Given the description of an element on the screen output the (x, y) to click on. 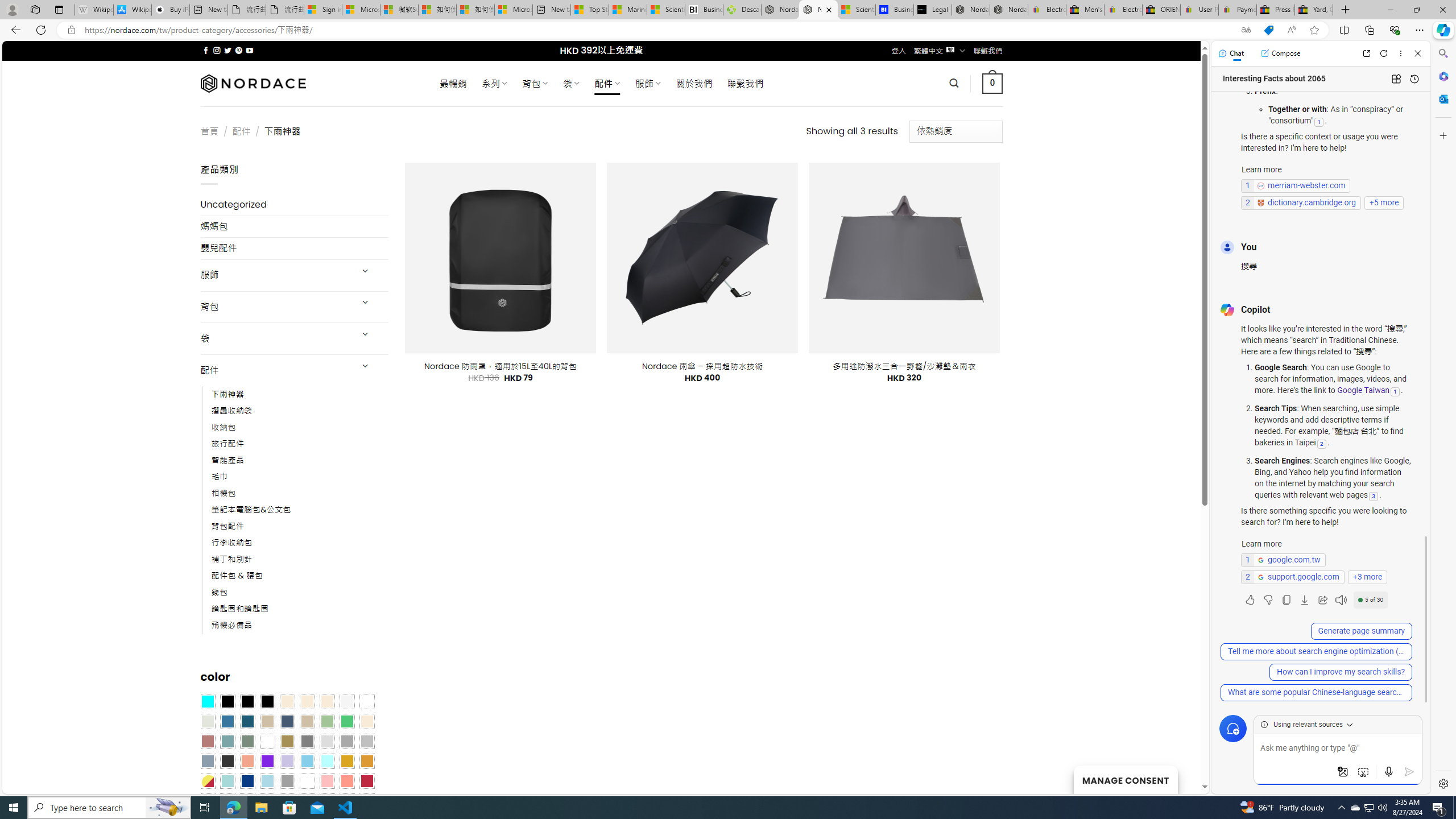
Show translate options (1245, 29)
Press Room - eBay Inc. (1276, 9)
Follow on Twitter (227, 50)
Uncategorized (294, 204)
Follow on YouTube (249, 50)
